Given the description of an element on the screen output the (x, y) to click on. 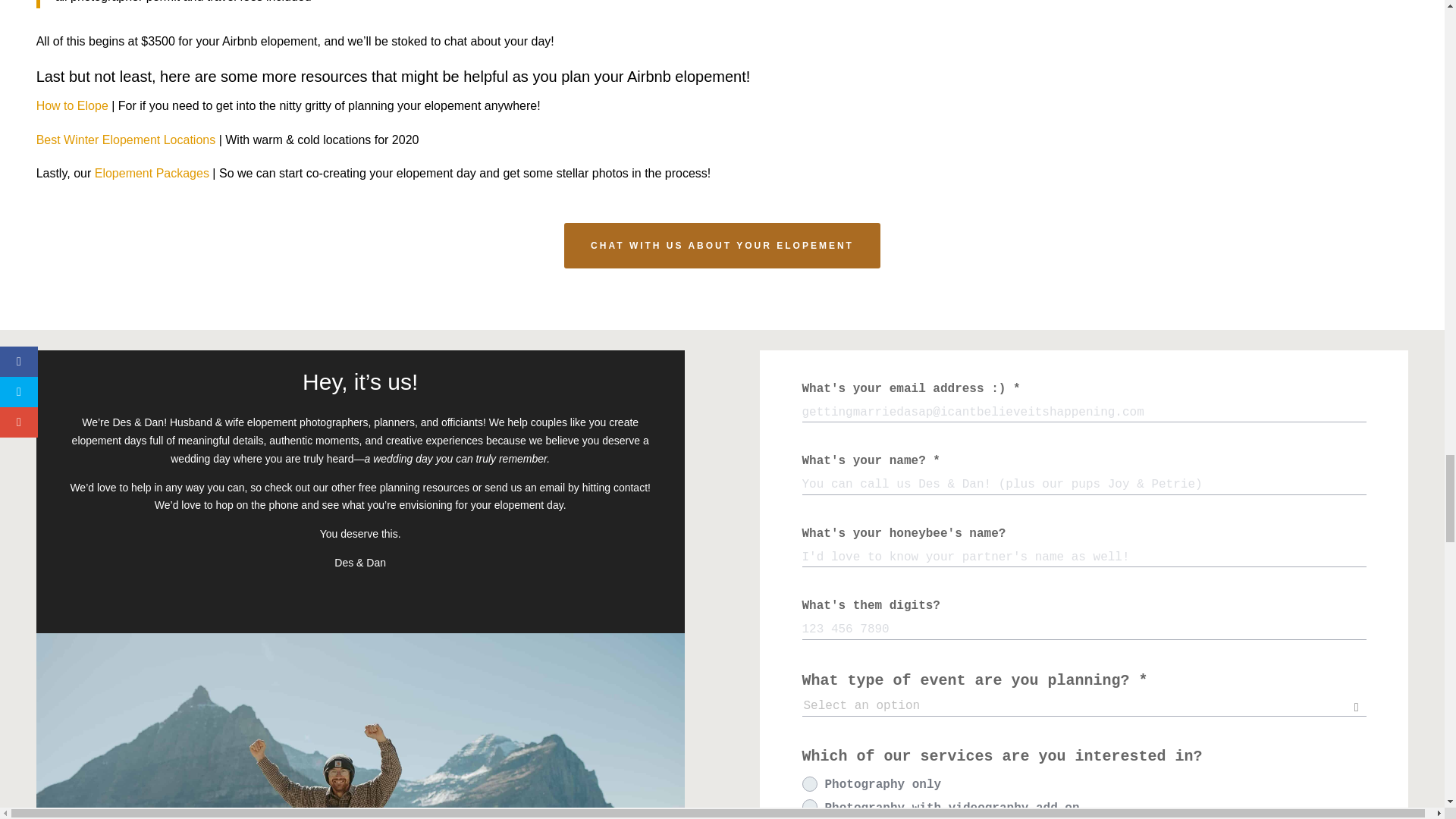
Elopement Packages (151, 173)
CHAT WITH US ABOUT YOUR ELOPEMENT (722, 245)
How to Elope (71, 105)
Best Winter Elopement Locations (125, 139)
